Given the description of an element on the screen output the (x, y) to click on. 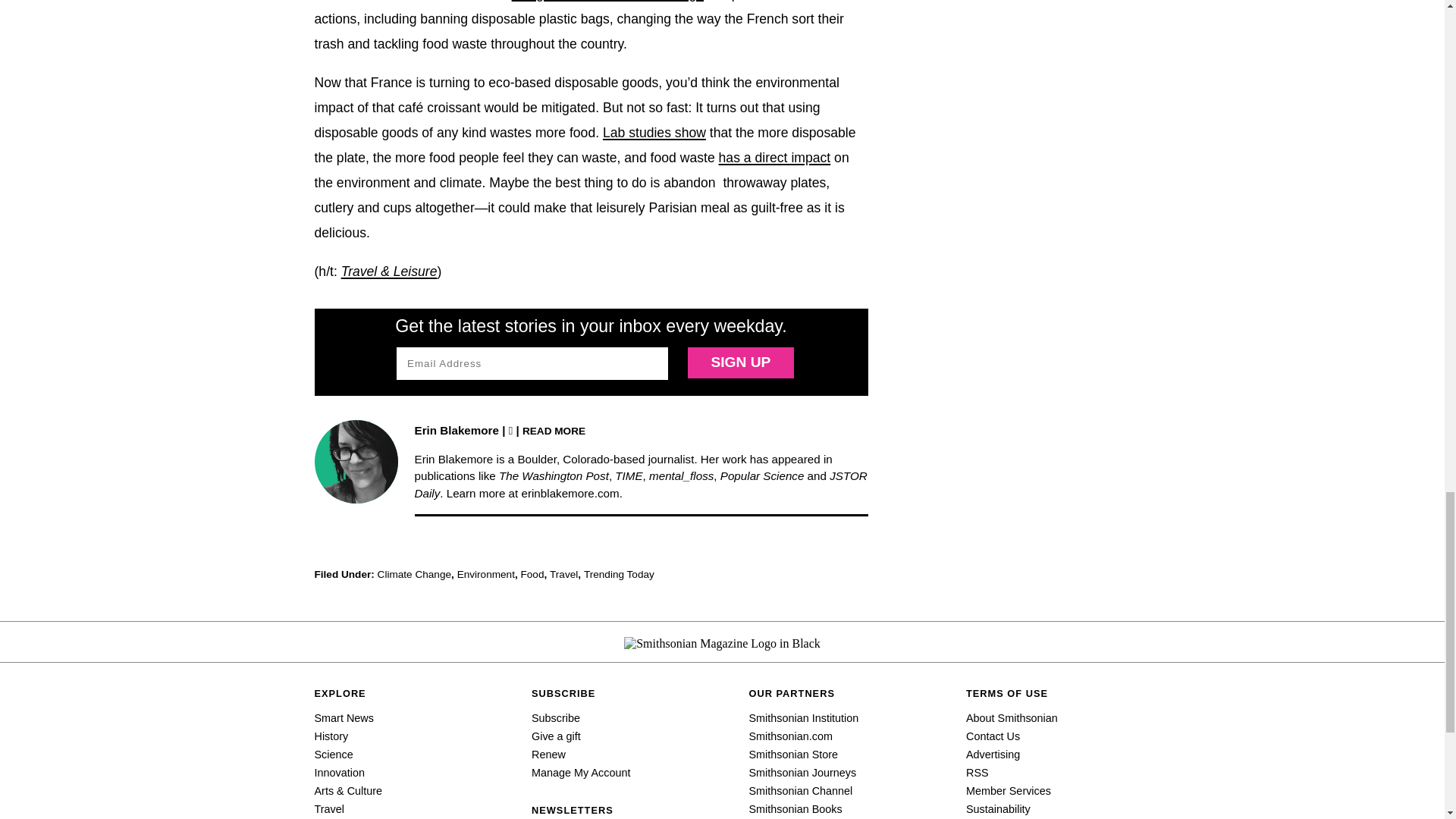
Read more from this author (553, 430)
Sign Up (740, 362)
